Given the description of an element on the screen output the (x, y) to click on. 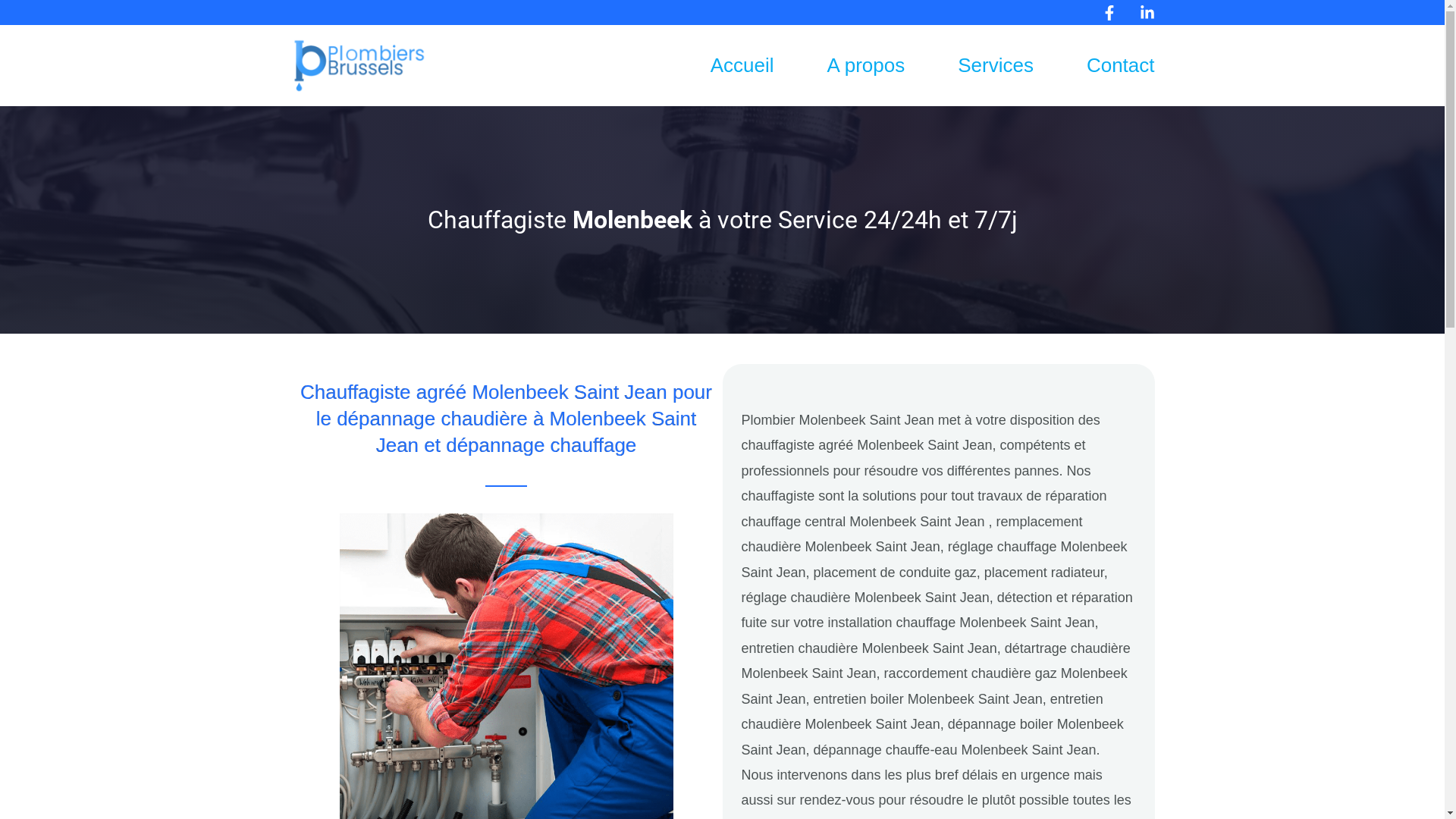
A propos Element type: text (839, 65)
Services Element type: text (968, 65)
Accueil Element type: text (715, 65)
Contact Element type: text (1093, 65)
